Given the description of an element on the screen output the (x, y) to click on. 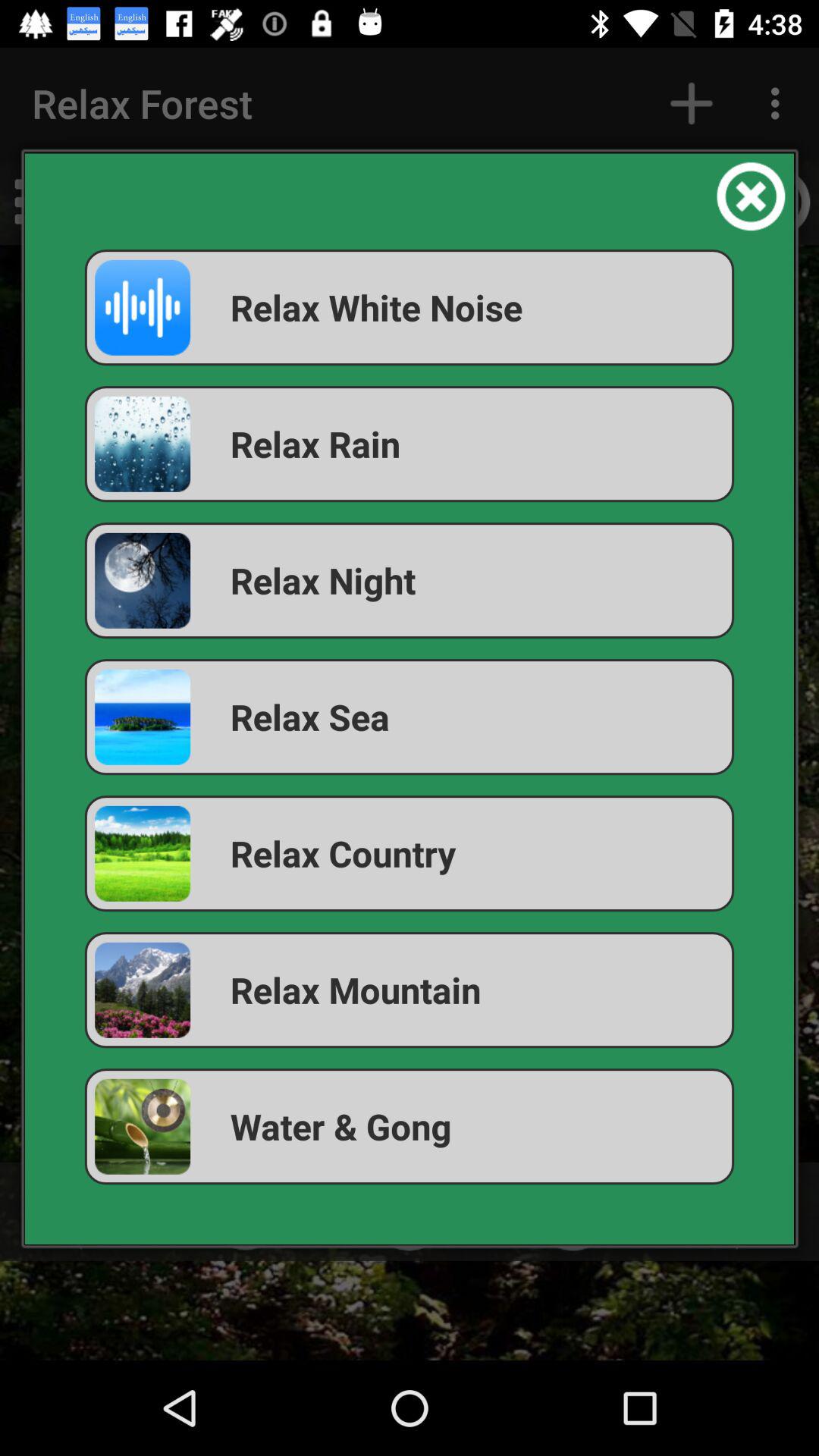
scroll until relax rain (409, 444)
